Given the description of an element on the screen output the (x, y) to click on. 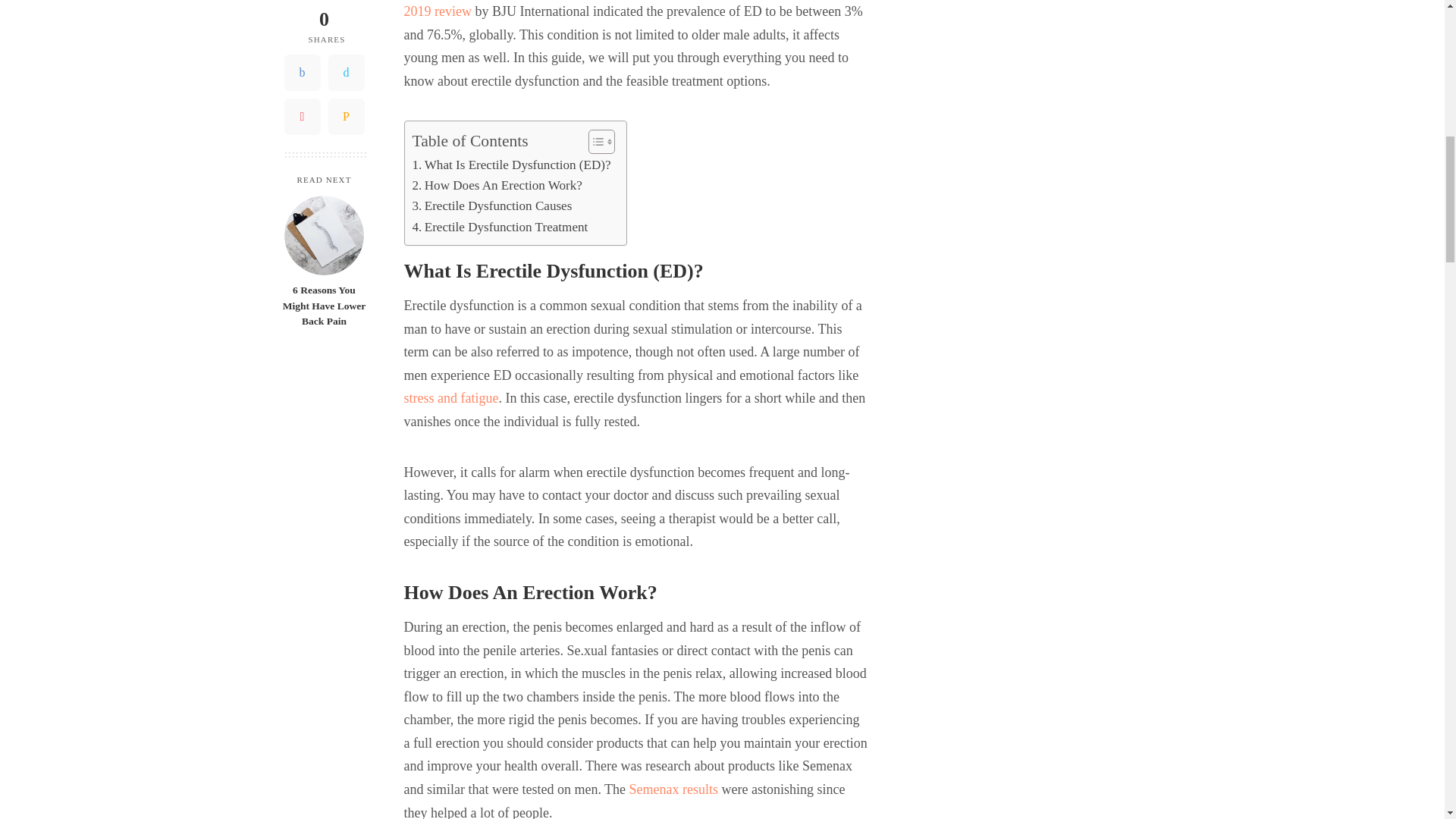
6 Reasons You Might Have Lower Back Pain (323, 157)
Pinterest (301, 39)
Facebook (301, 6)
Twitter (345, 6)
Email (345, 39)
6 Reasons You Might Have Lower Back Pain (323, 228)
Erectile Dysfunction Causes (492, 205)
How Does An Erection Work? (497, 185)
